Given the description of an element on the screen output the (x, y) to click on. 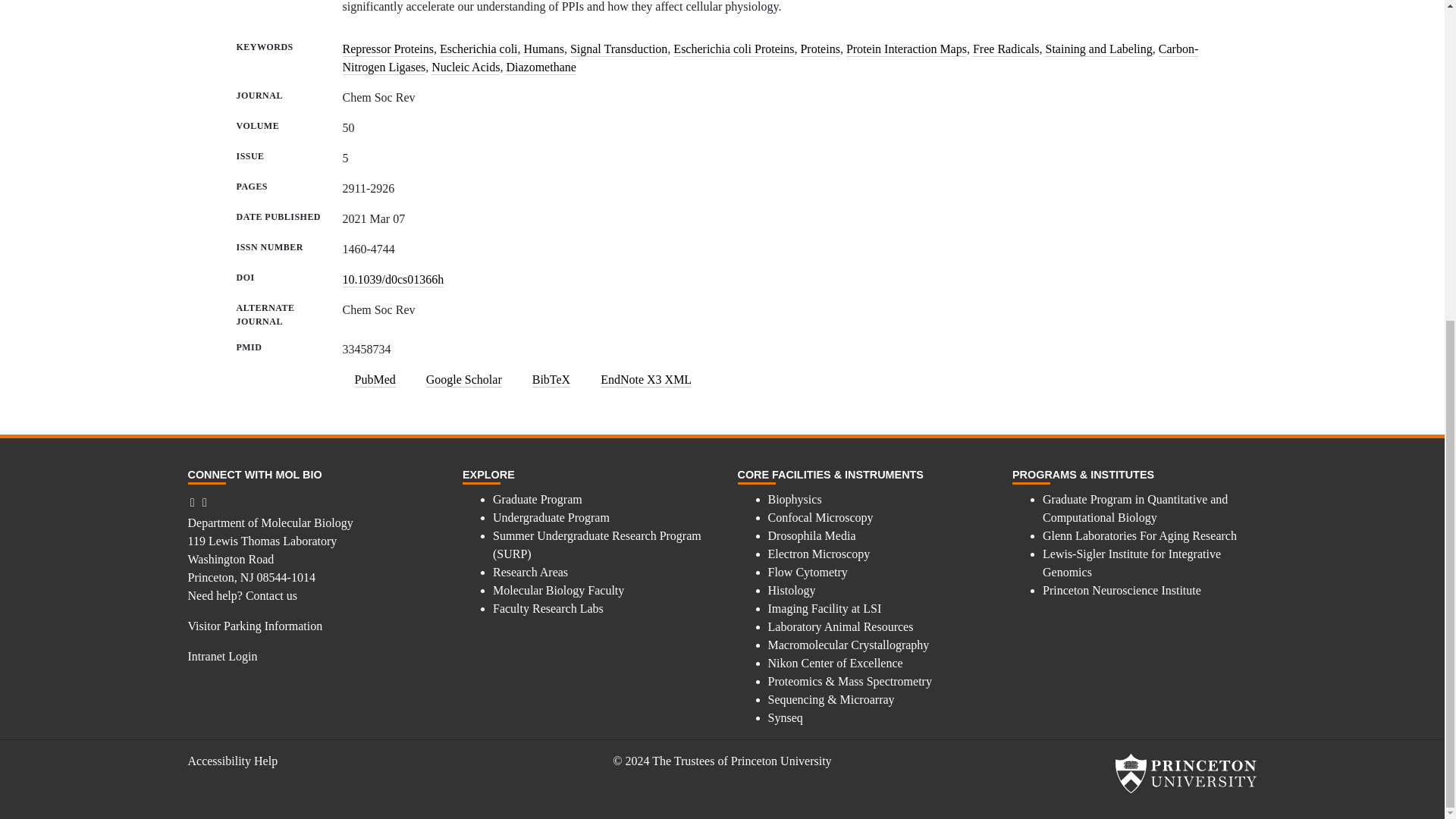
Princeton University (1185, 773)
